Given the description of an element on the screen output the (x, y) to click on. 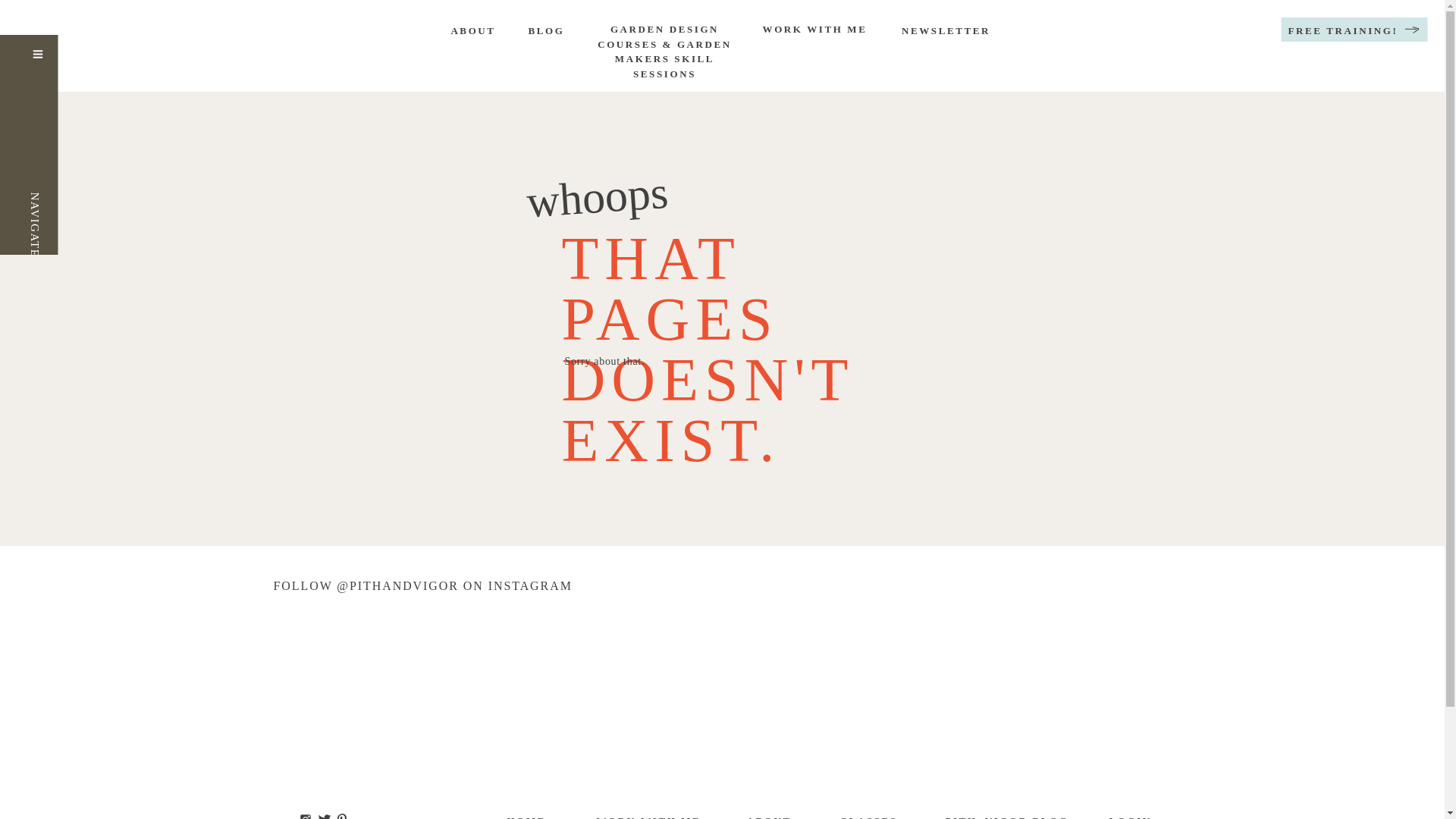
NEWSLETTER (945, 31)
BLOG (545, 31)
WORK WITH ME (815, 33)
ABOUT (767, 815)
ABOUT (471, 31)
WORK WITH ME (649, 815)
FREE TRAINING! (1343, 31)
